Given the description of an element on the screen output the (x, y) to click on. 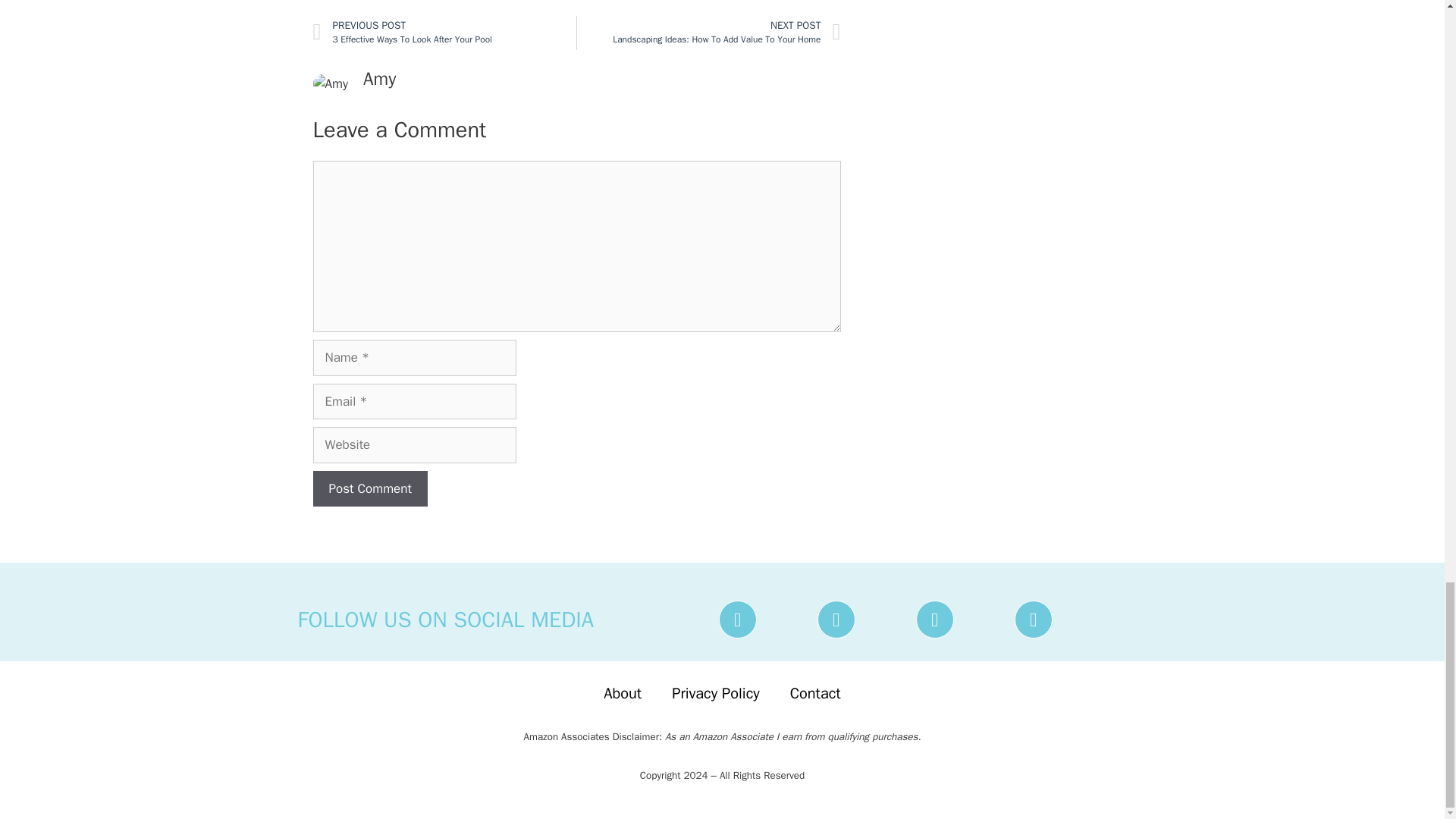
Post Comment (444, 32)
Post Comment (369, 488)
